Given the description of an element on the screen output the (x, y) to click on. 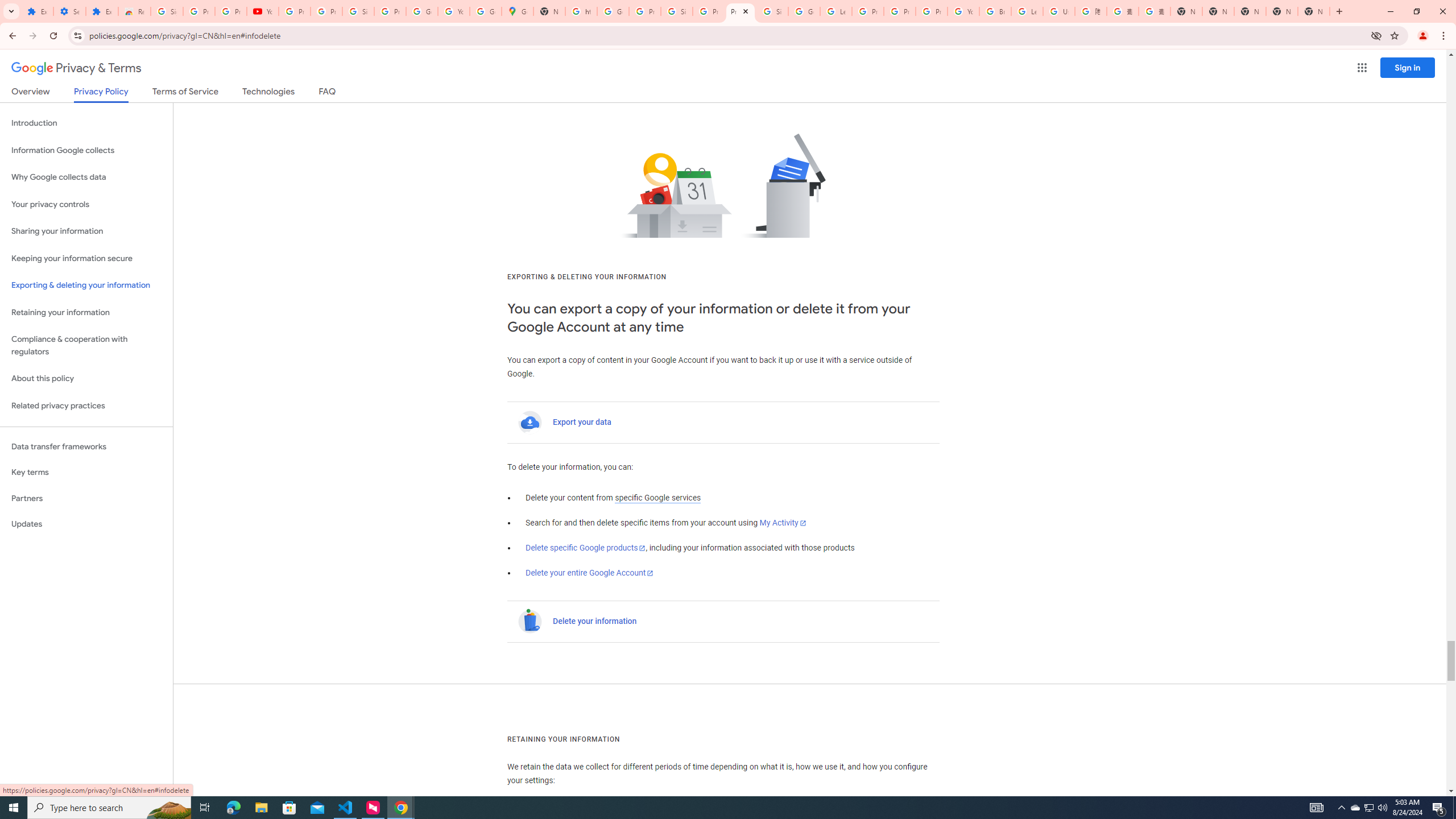
Sign in - Google Accounts (358, 11)
Delete specific Google products (585, 547)
Keeping your information secure (86, 258)
Google Maps (517, 11)
